Given the description of an element on the screen output the (x, y) to click on. 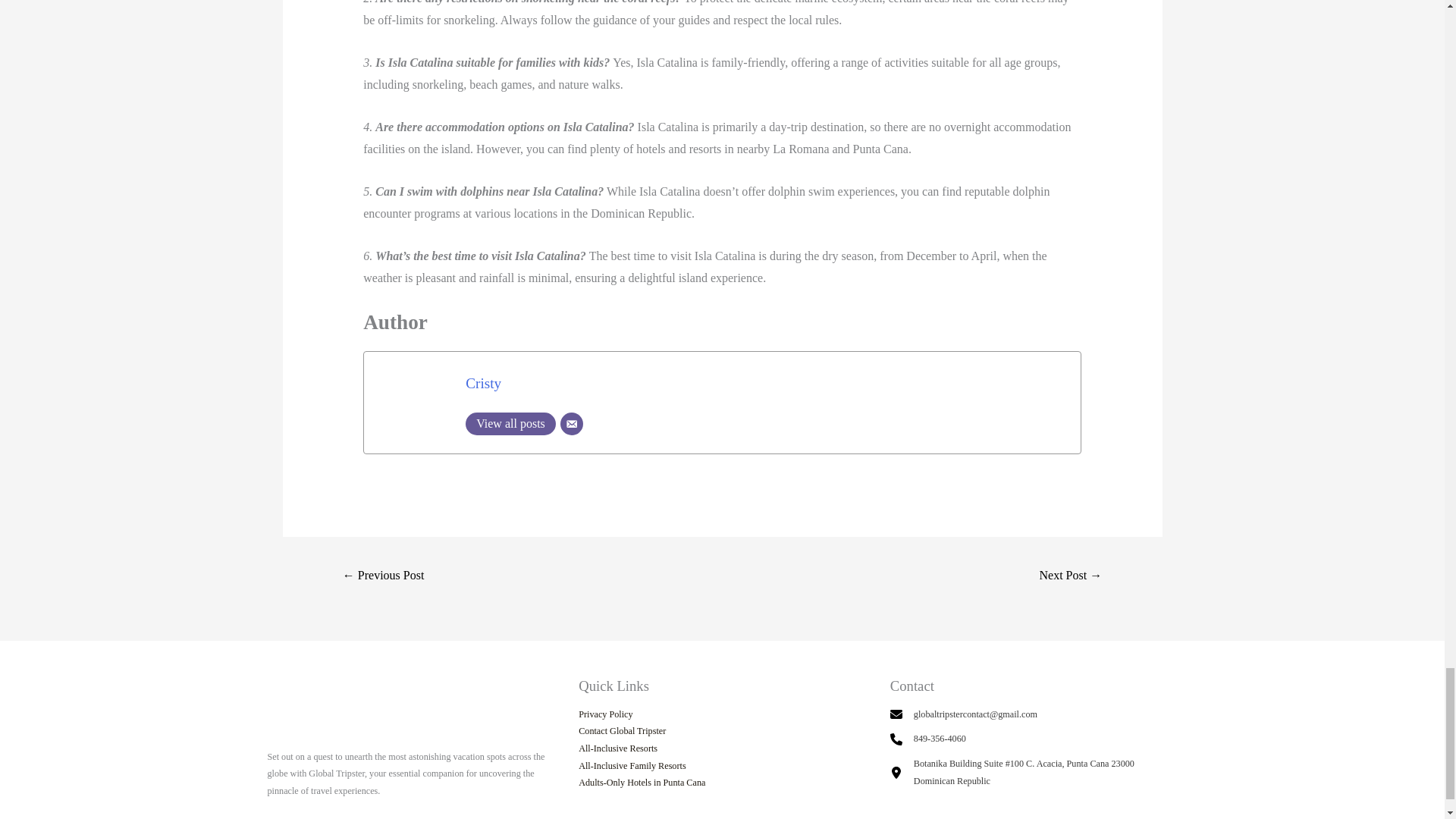
View all posts (510, 423)
Cristy (482, 383)
